Given the description of an element on the screen output the (x, y) to click on. 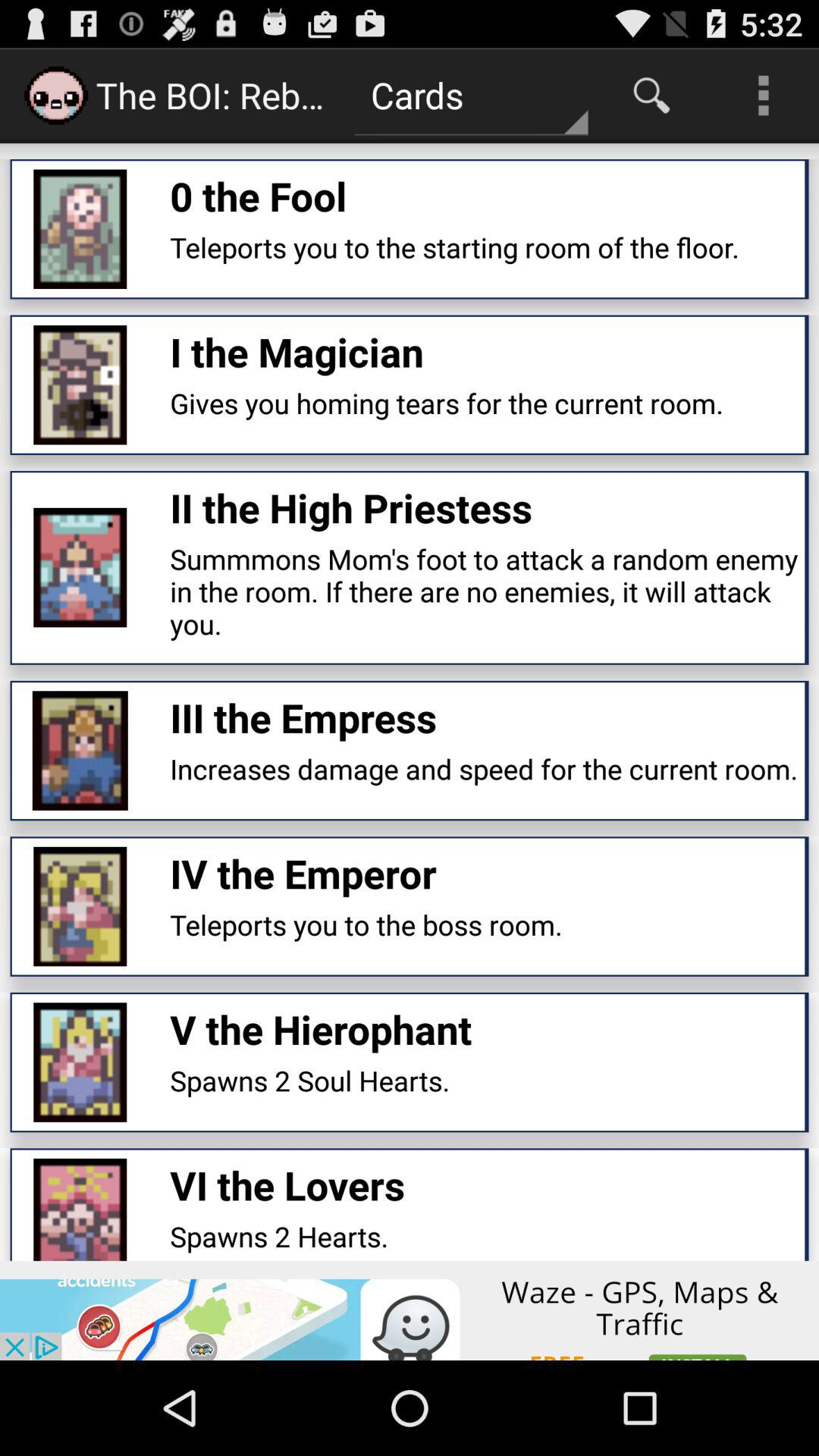
click on the image which is present on the left side of the vi the lovers (80, 1209)
click on the text cards (471, 95)
go to the icon in first option (80, 229)
select the icon which is right to the text cards (651, 95)
select the image which is right to text iv the emperor (80, 906)
